Given the description of an element on the screen output the (x, y) to click on. 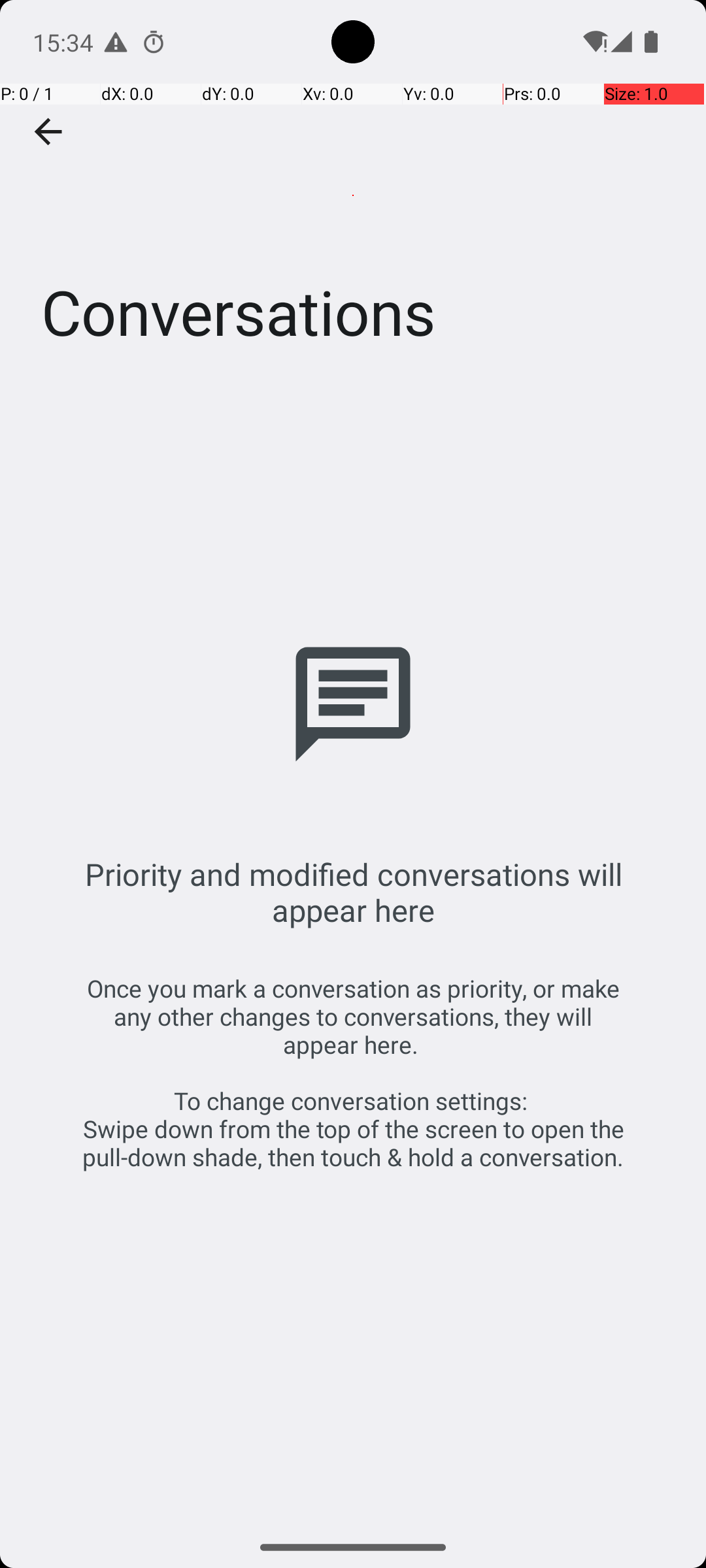
Conversations Element type: android.widget.FrameLayout (353, 195)
Priority and modified conversations will appear here Element type: android.widget.TextView (352, 891)
Once you mark a conversation as priority, or make any other changes to conversations, they will appear here. 

To change conversation settings: 
Swipe down from the top of the screen to open the pull-down shade, then touch & hold a conversation. Element type: android.widget.TextView (352, 1072)
Android System notification:  Element type: android.widget.ImageView (115, 41)
